Given the description of an element on the screen output the (x, y) to click on. 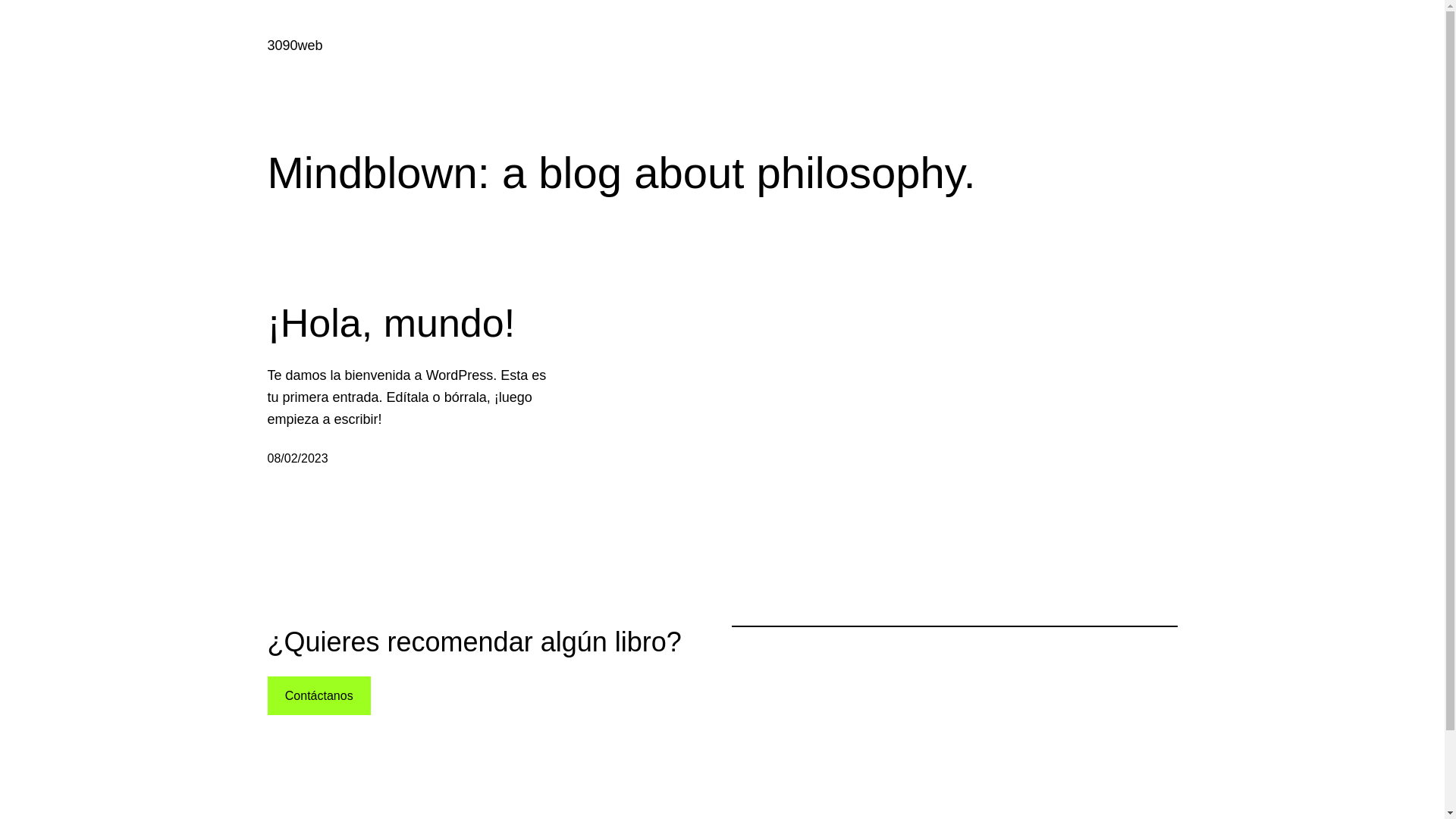
08/02/2023 Element type: text (296, 457)
3090web Element type: text (294, 45)
